Given the description of an element on the screen output the (x, y) to click on. 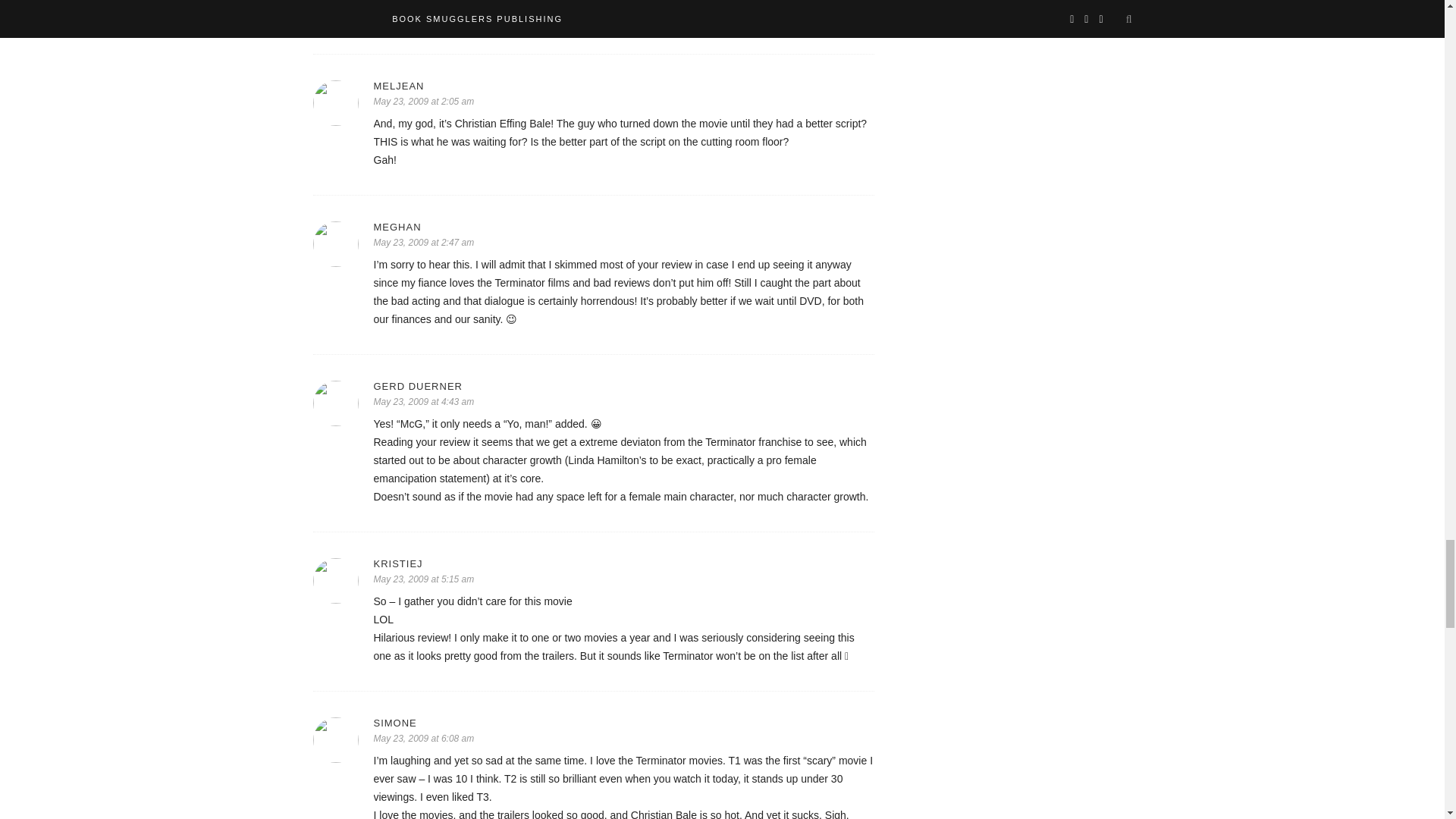
MEGHAN (622, 226)
MELJEAN (622, 85)
KRISTIEJ (622, 563)
